Given the description of an element on the screen output the (x, y) to click on. 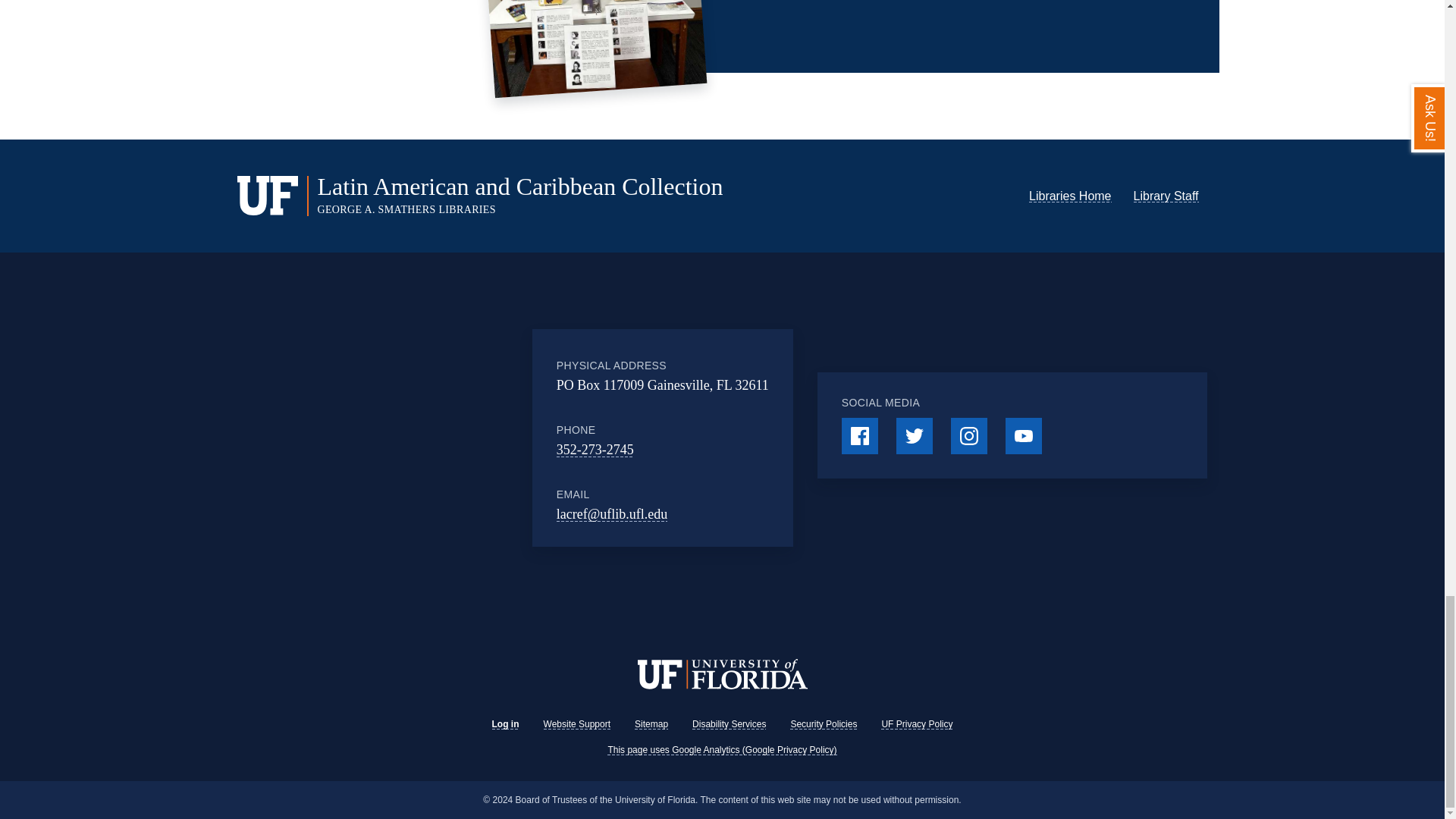
Library Staff (1166, 195)
Sitemap (651, 724)
Google Maps Embed (431, 437)
Log in (505, 724)
Libraries Home (1069, 195)
352-273-2745 (594, 449)
Disability Services (729, 724)
Website Support (577, 724)
Security Policies (823, 724)
UF Privacy Policy (916, 724)
